Given the description of an element on the screen output the (x, y) to click on. 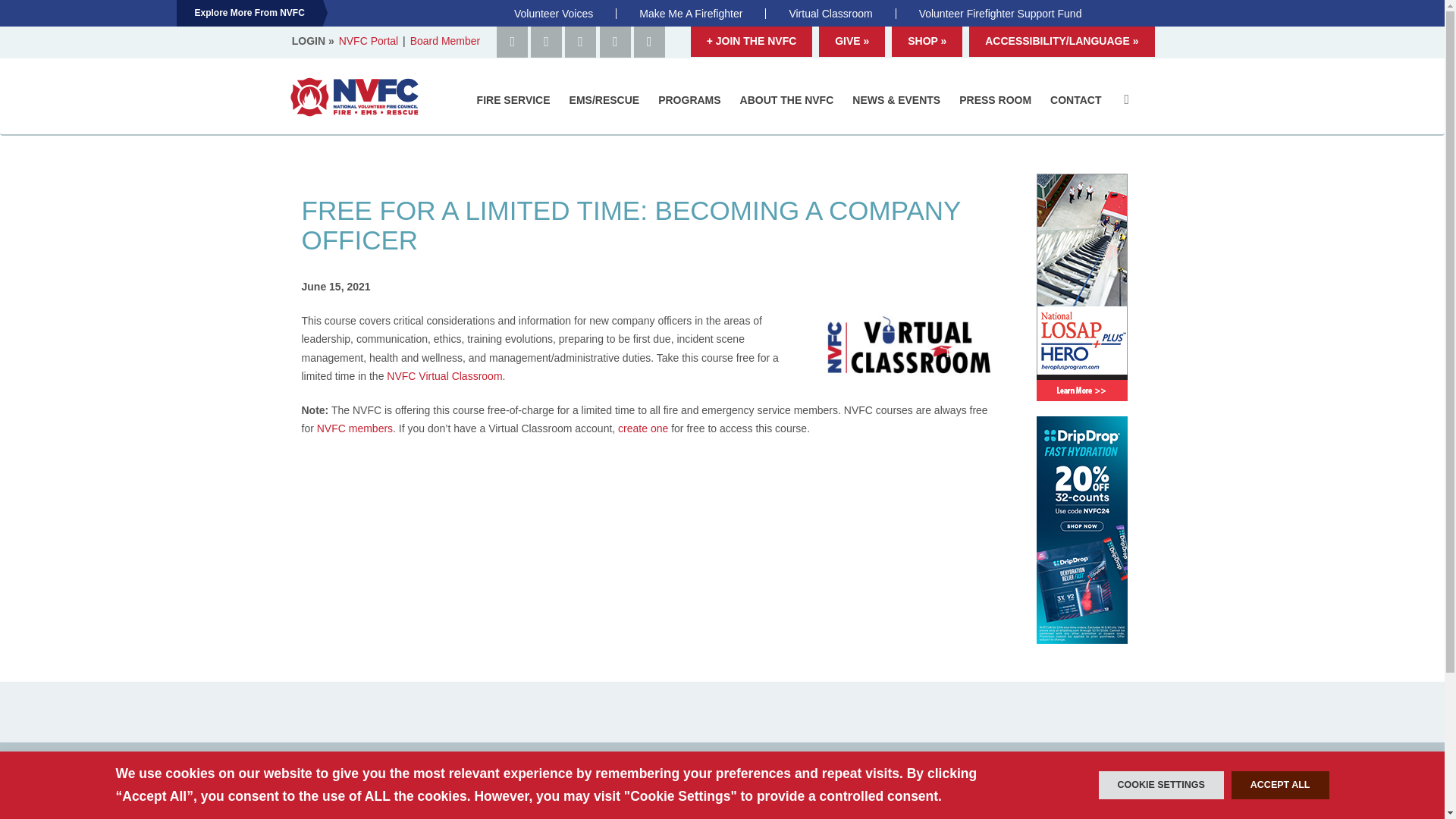
National Volunteer Fire Council (354, 96)
CONTACT (1077, 99)
FIRE SERVICE (515, 99)
Make Me A Firefighter (690, 13)
Volunteer Voices (553, 13)
Board Member (445, 40)
NVFC members (355, 428)
create one (642, 428)
Volunteer Firefighter Support Fund (1000, 13)
ABOUT THE NVFC (788, 99)
